Given the description of an element on the screen output the (x, y) to click on. 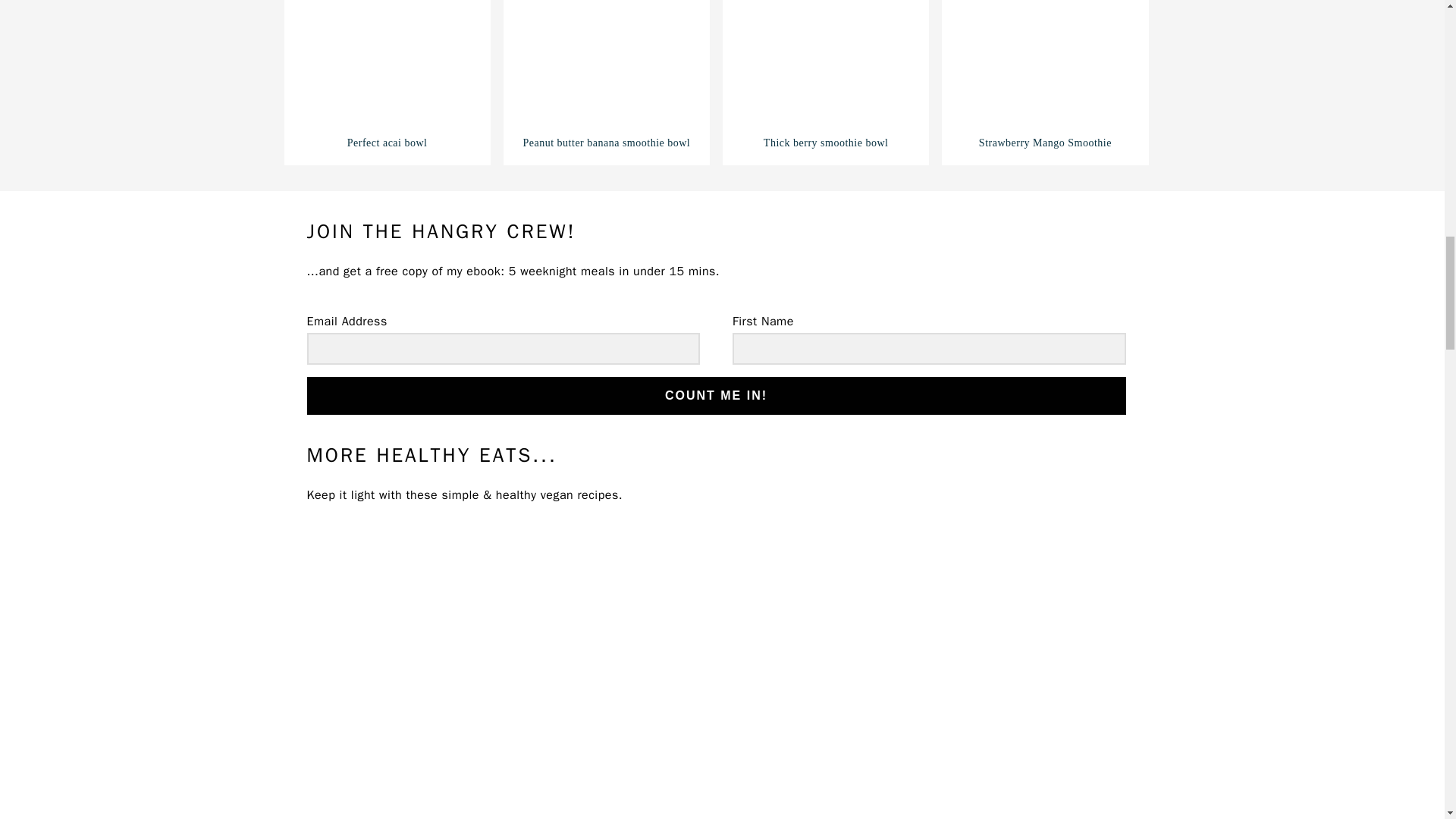
Peanut butter banana smoothie bowl (606, 76)
COUNT ME IN! (715, 395)
Perfect acai bowl (387, 76)
Thick berry smoothie bowl (825, 76)
Strawberry Mango Smoothie (1045, 76)
